Given the description of an element on the screen output the (x, y) to click on. 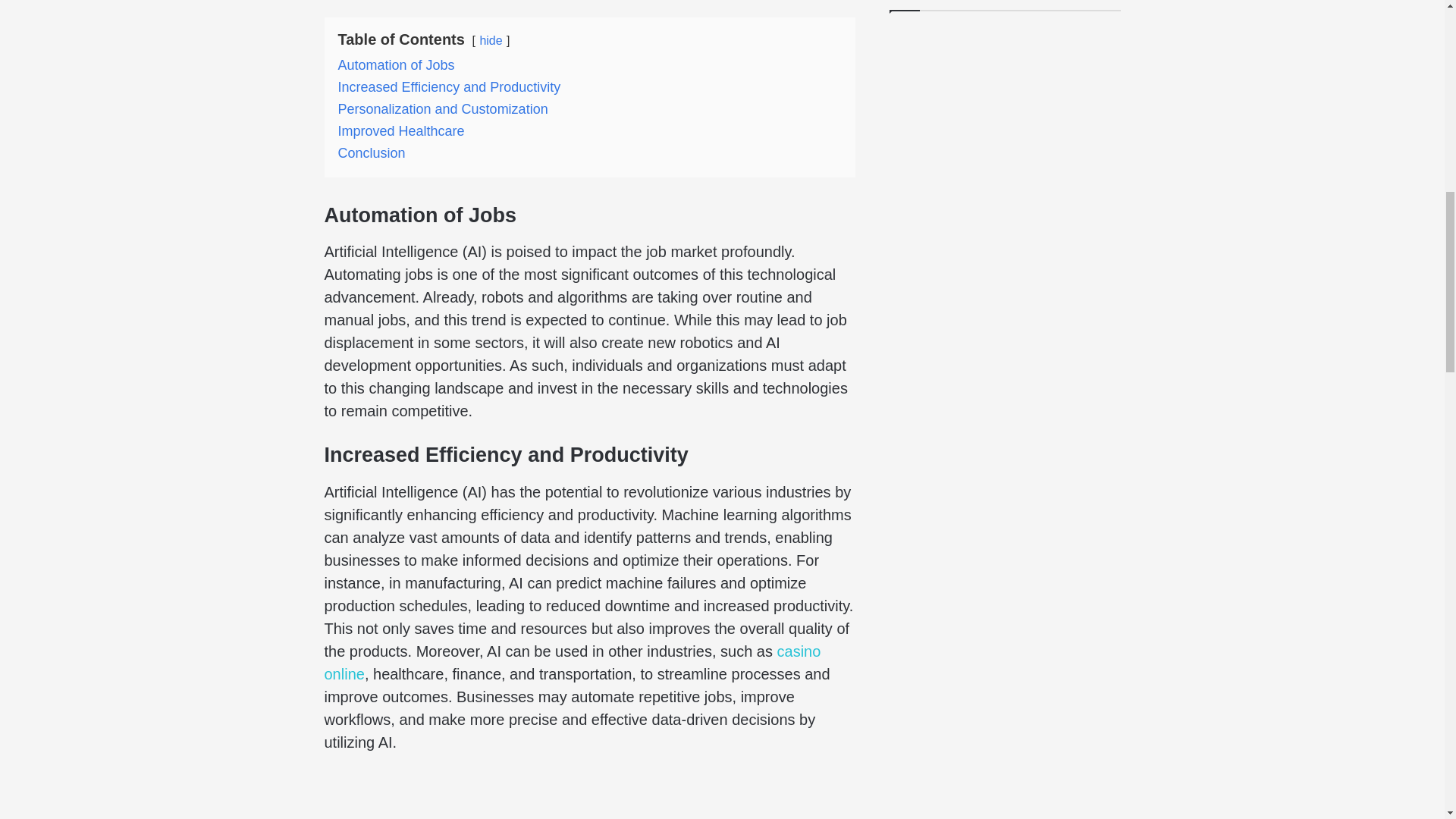
Conclusion (371, 152)
Improved Healthcare (400, 130)
Personalization and Customization (442, 109)
casino online (572, 662)
Increased Efficiency and Productivity (448, 87)
hide (490, 40)
Automation of Jobs (395, 64)
